Given the description of an element on the screen output the (x, y) to click on. 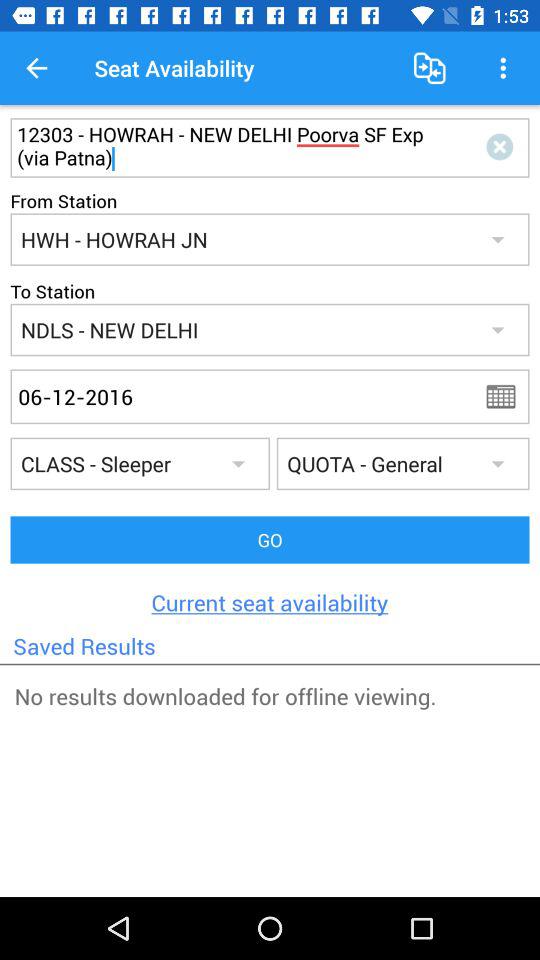
delete text (503, 147)
